Given the description of an element on the screen output the (x, y) to click on. 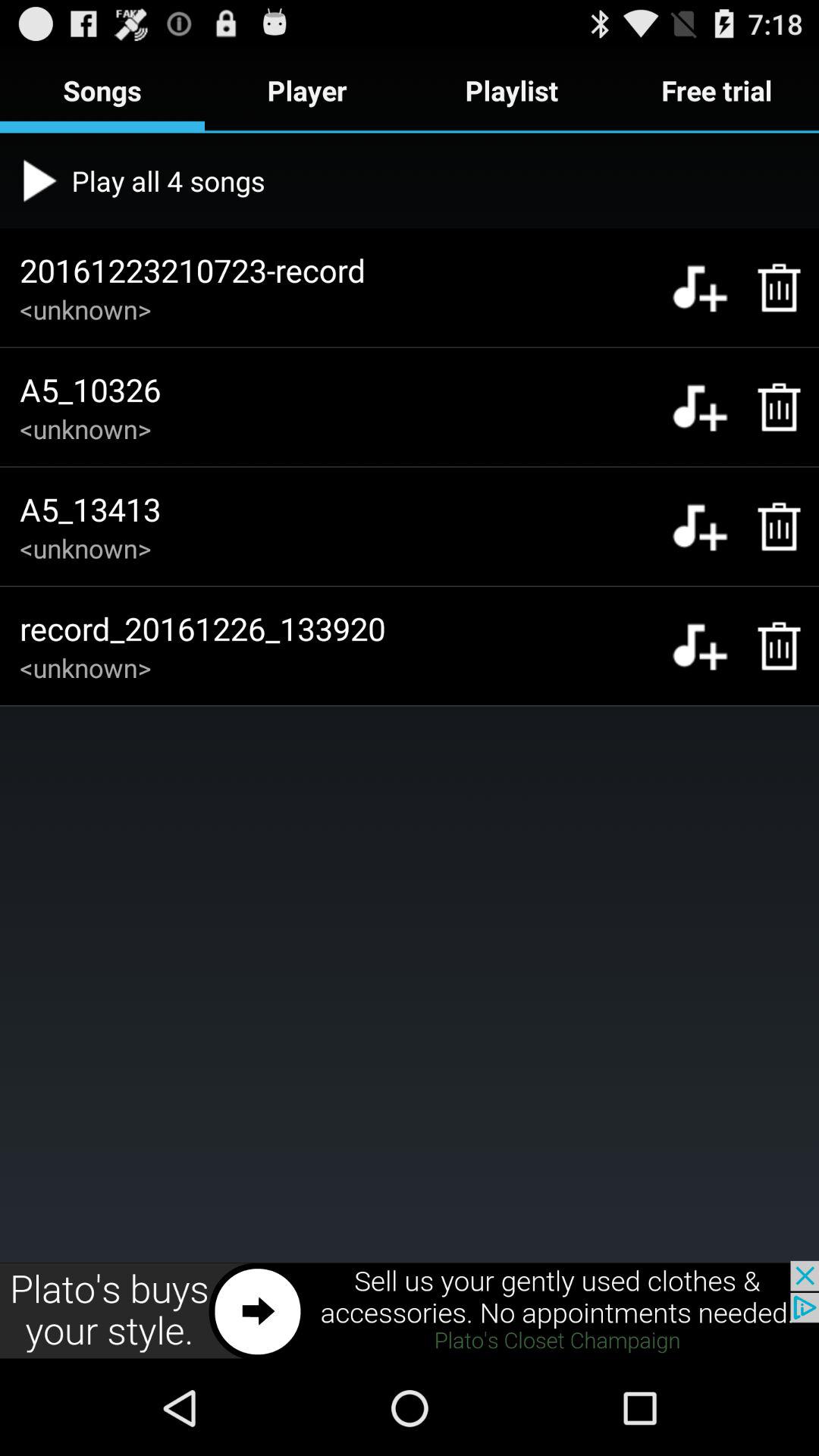
add to playlist (699, 407)
